Given the description of an element on the screen output the (x, y) to click on. 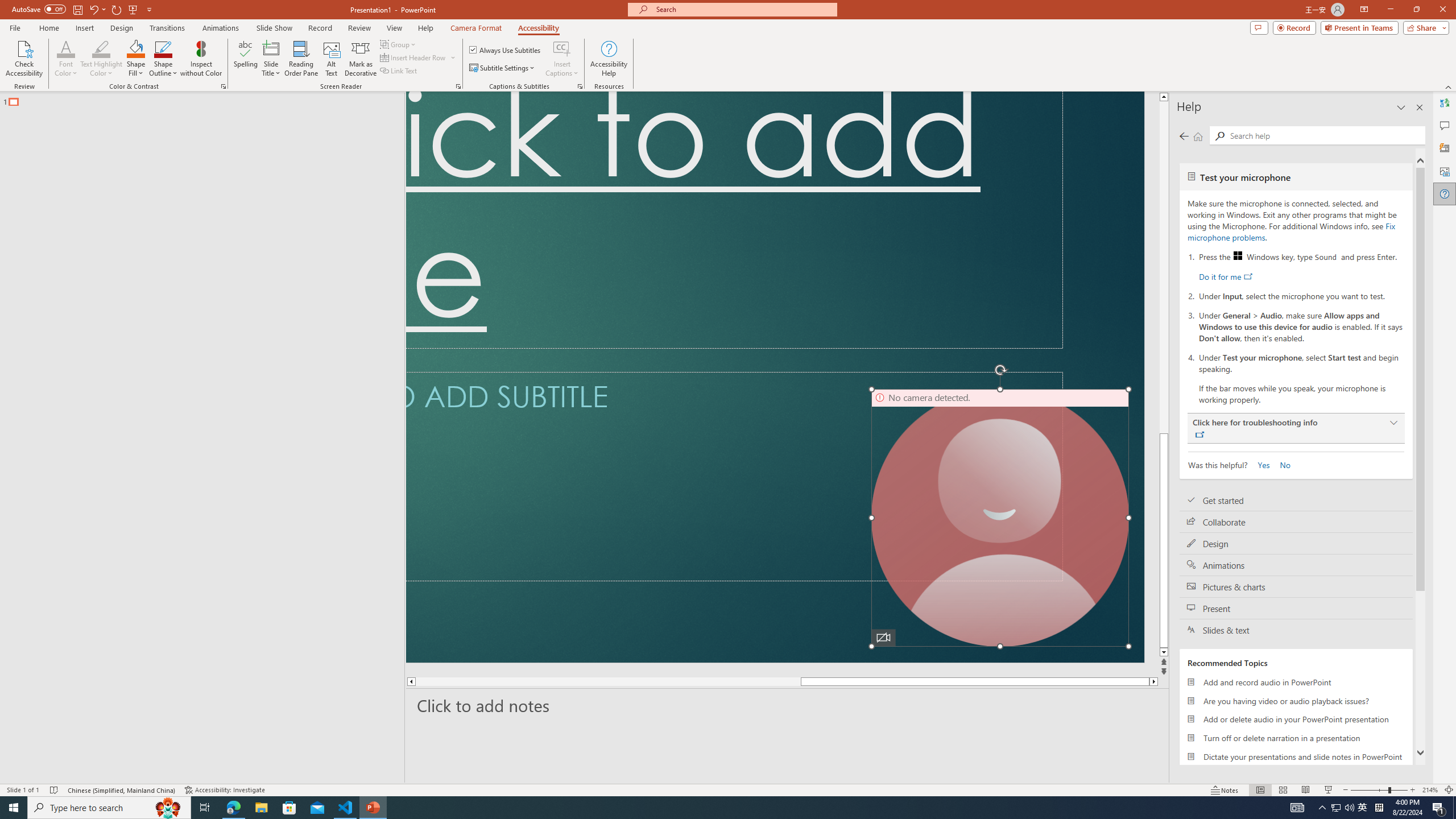
New Windows key logo (1238, 255)
Camera 8, No camera detected. (999, 517)
Click here for troubleshooting info (1296, 428)
Inspect without Color (201, 58)
